Given the description of an element on the screen output the (x, y) to click on. 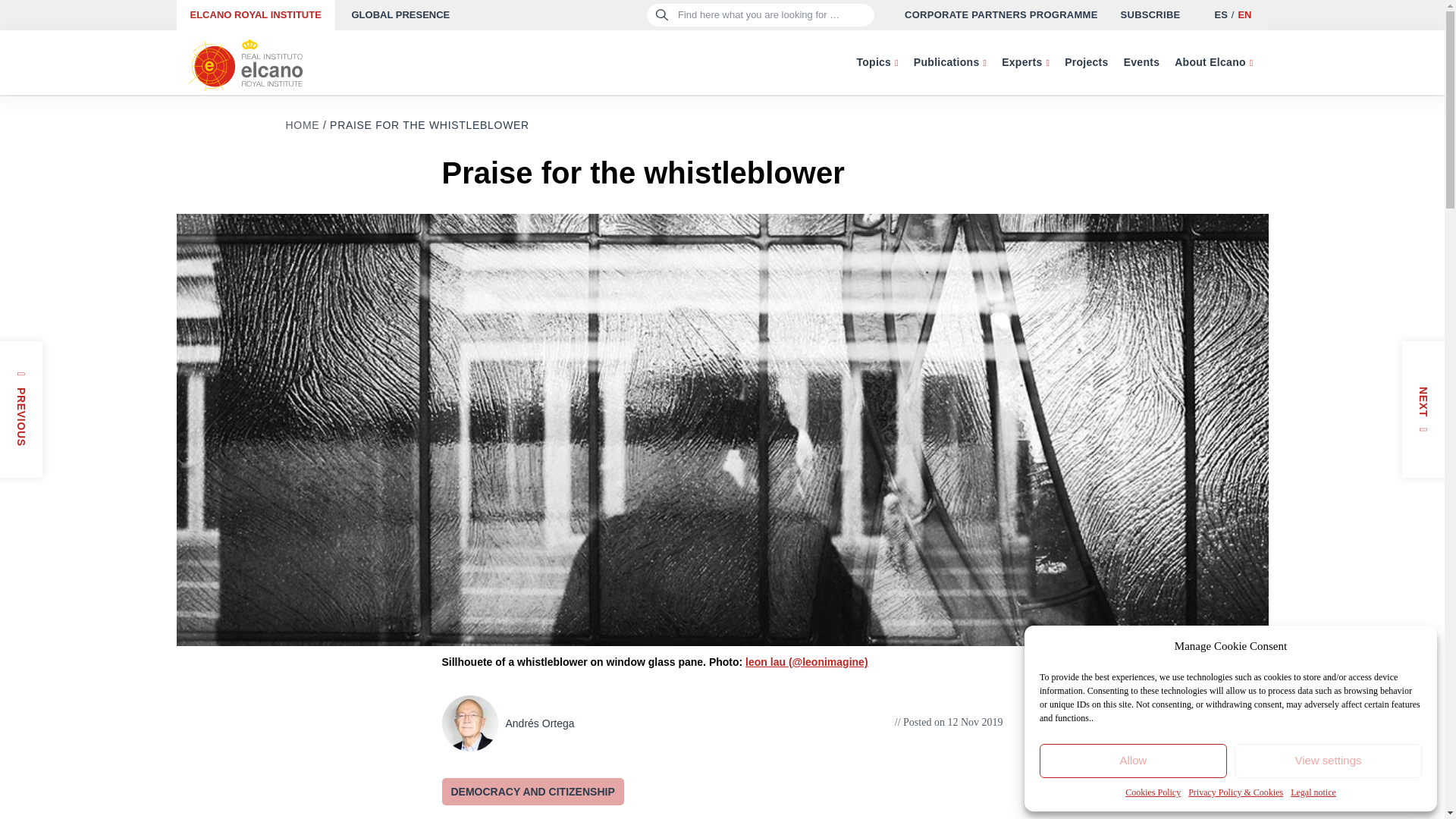
SUBSCRIBE (1150, 15)
Search (39, 18)
Cookies Policy (1152, 792)
Legal notice (1313, 792)
Topics (876, 61)
View settings (1328, 760)
Publications (949, 61)
Posted on 12 Nov 2019 (949, 722)
CORPORATE PARTNERS PROGRAMME (1000, 15)
Allow (1133, 760)
